Given the description of an element on the screen output the (x, y) to click on. 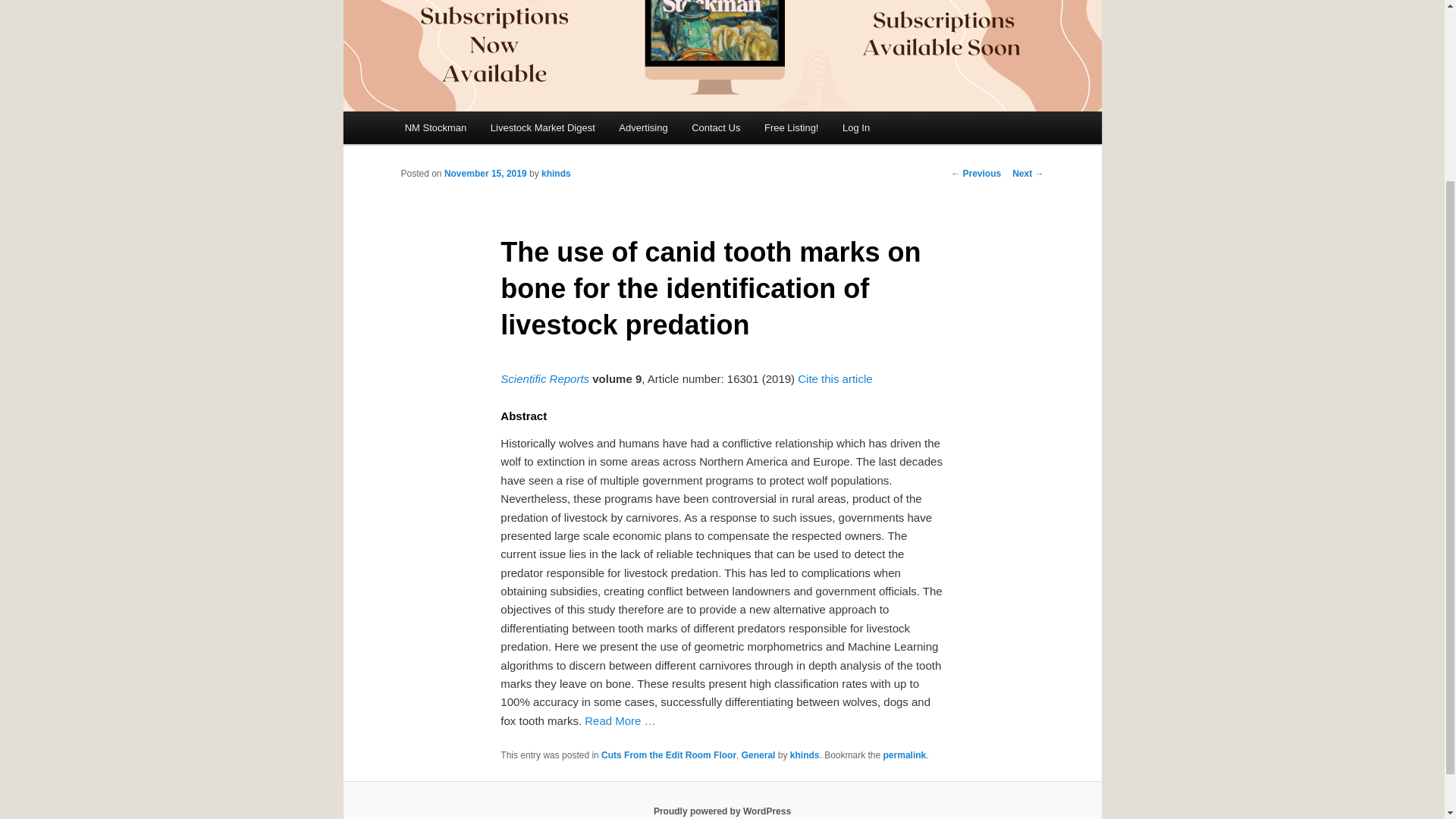
November 15, 2019 (485, 173)
khinds (555, 173)
Livestock Market Digest (543, 127)
Proudly powered by WordPress (721, 810)
Contact Us (715, 127)
permalink (904, 755)
General (758, 755)
khinds (804, 755)
Semantic Personal Publishing Platform (721, 810)
Log In (855, 127)
Free Listing! (790, 127)
Advertising (643, 127)
Cite this article (834, 378)
View all posts by khinds (555, 173)
